Given the description of an element on the screen output the (x, y) to click on. 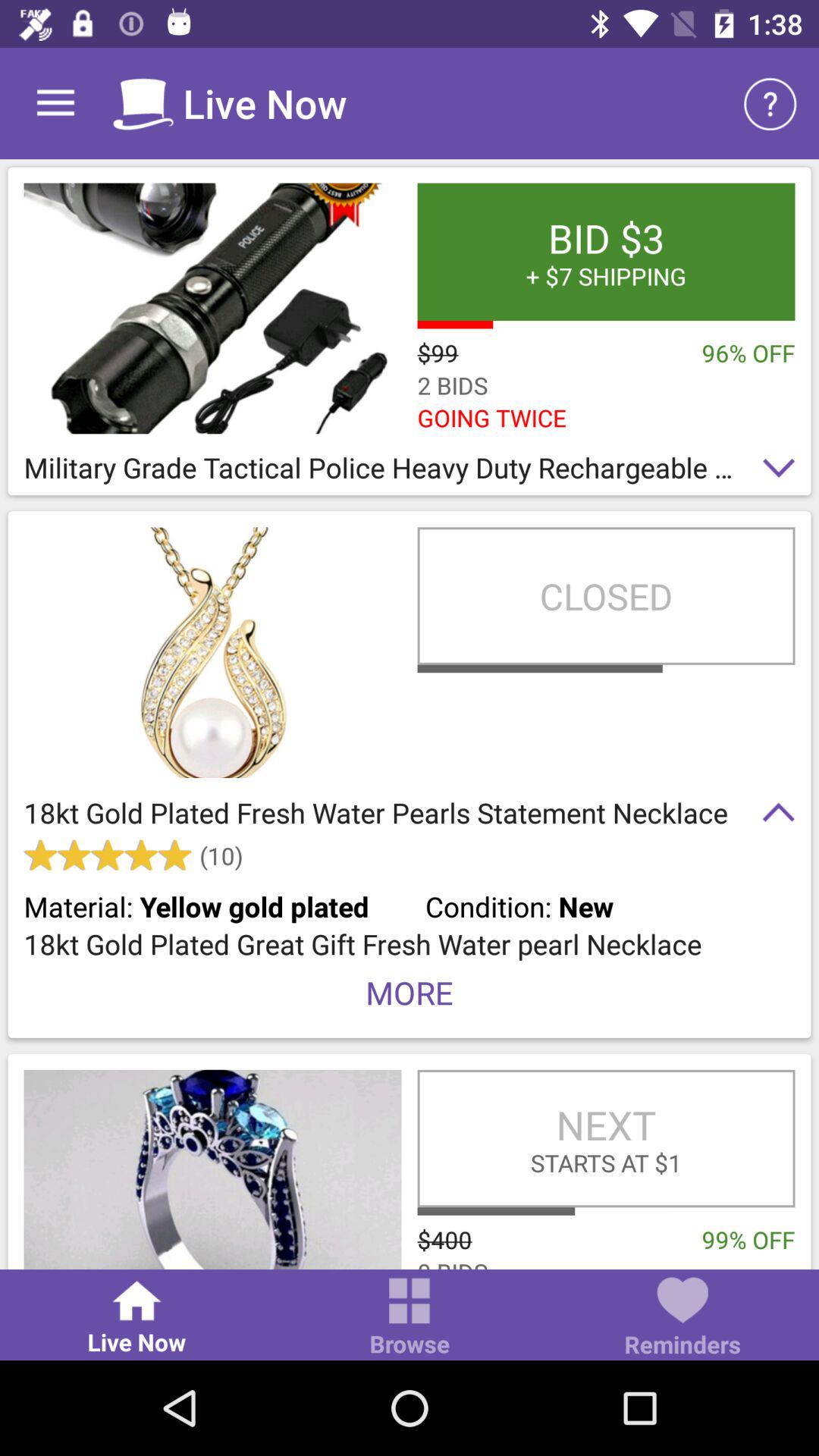
illustrative product image (212, 308)
